Given the description of an element on the screen output the (x, y) to click on. 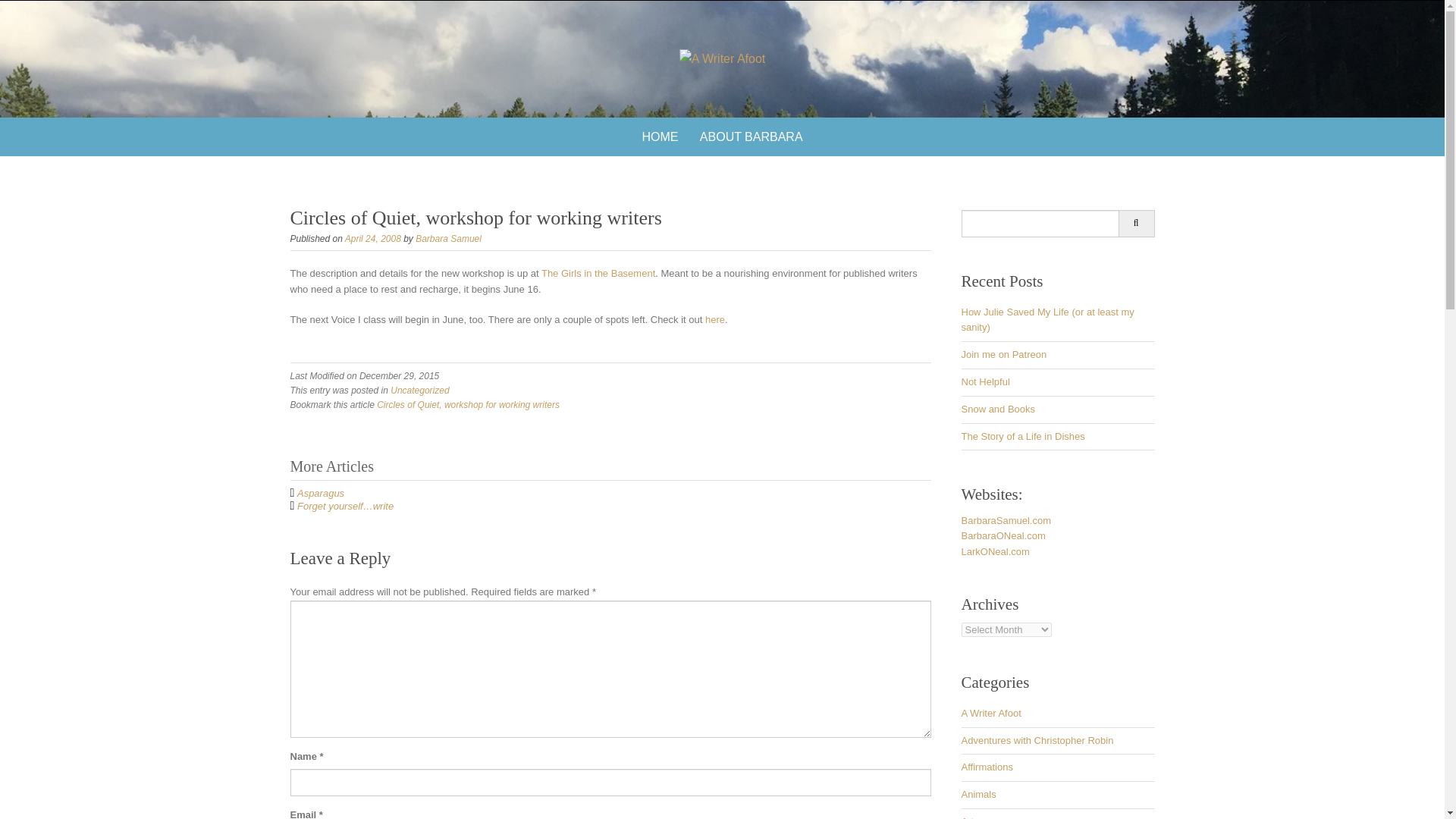
Uncategorized (419, 389)
April 24, 2008 (373, 238)
Search (1136, 223)
Animals (977, 794)
Join me on Patreon (1003, 354)
Circles of Quiet, workshop for working writers (468, 404)
The Story of a Life in Dishes (1022, 436)
BarbaraONeal.com (1002, 535)
Not Helpful (985, 381)
BarbaraSamuel.com (1005, 519)
HOME (659, 136)
Art (967, 817)
ABOUT BARBARA (751, 136)
Snow and Books (997, 408)
The Girls in the Basement (598, 273)
